Given the description of an element on the screen output the (x, y) to click on. 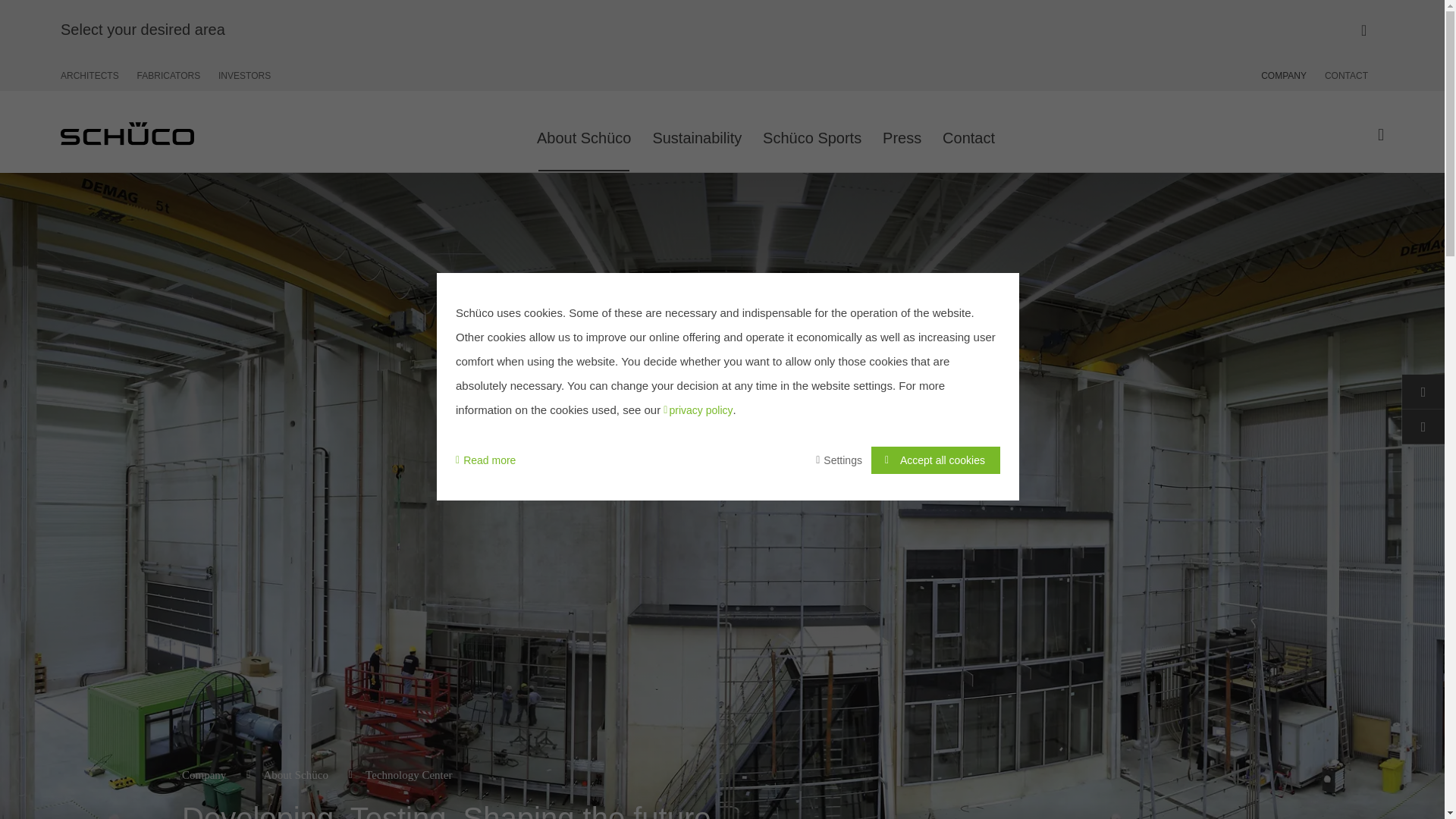
ARCHITECTS (93, 75)
Contact (968, 132)
COMPANY (1287, 75)
CONTACT (1342, 75)
INVESTORS (240, 75)
Sustainability (697, 132)
FABRICATORS (168, 75)
